Given the description of an element on the screen output the (x, y) to click on. 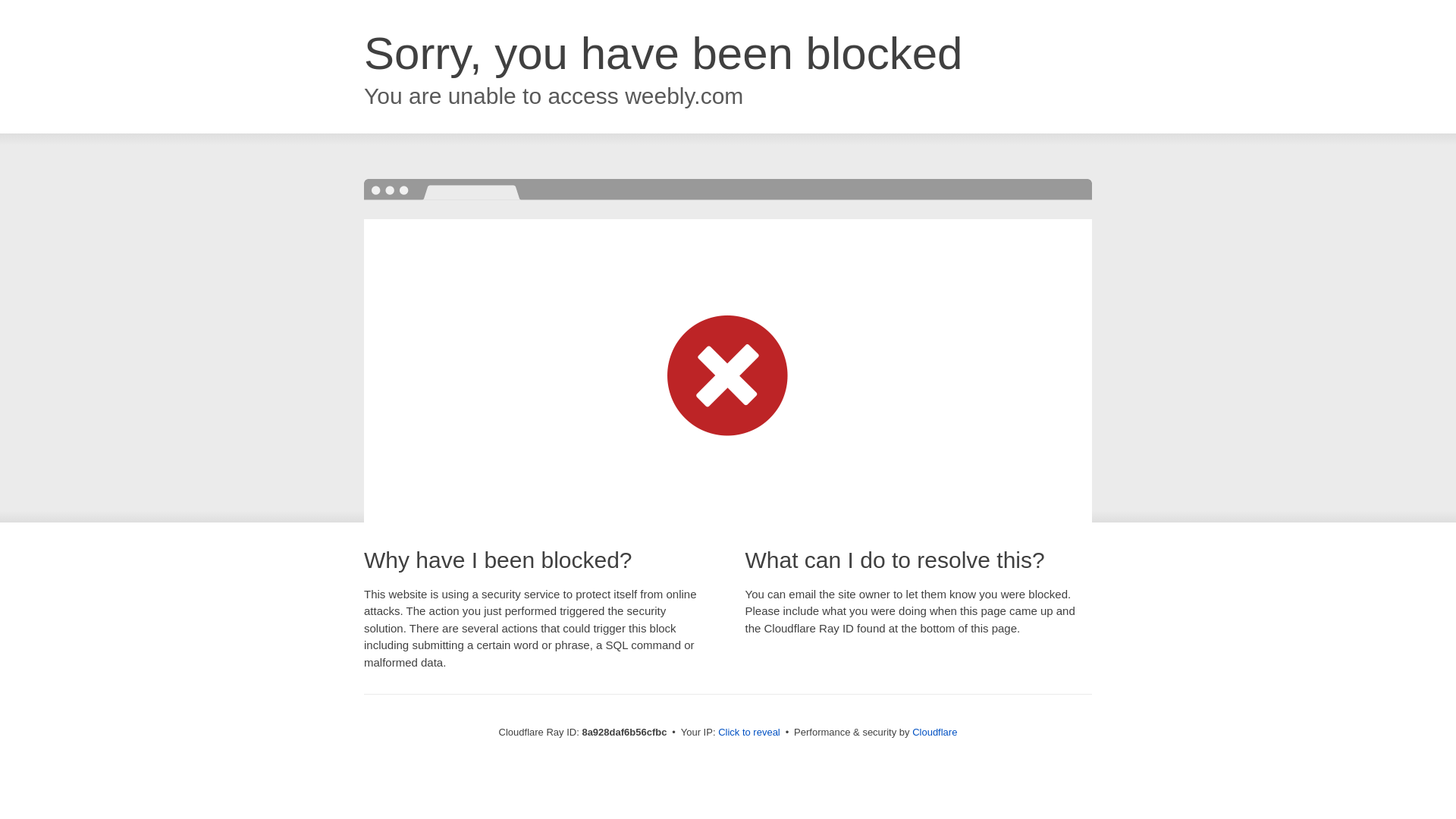
Click to reveal (748, 732)
Cloudflare (934, 731)
